Given the description of an element on the screen output the (x, y) to click on. 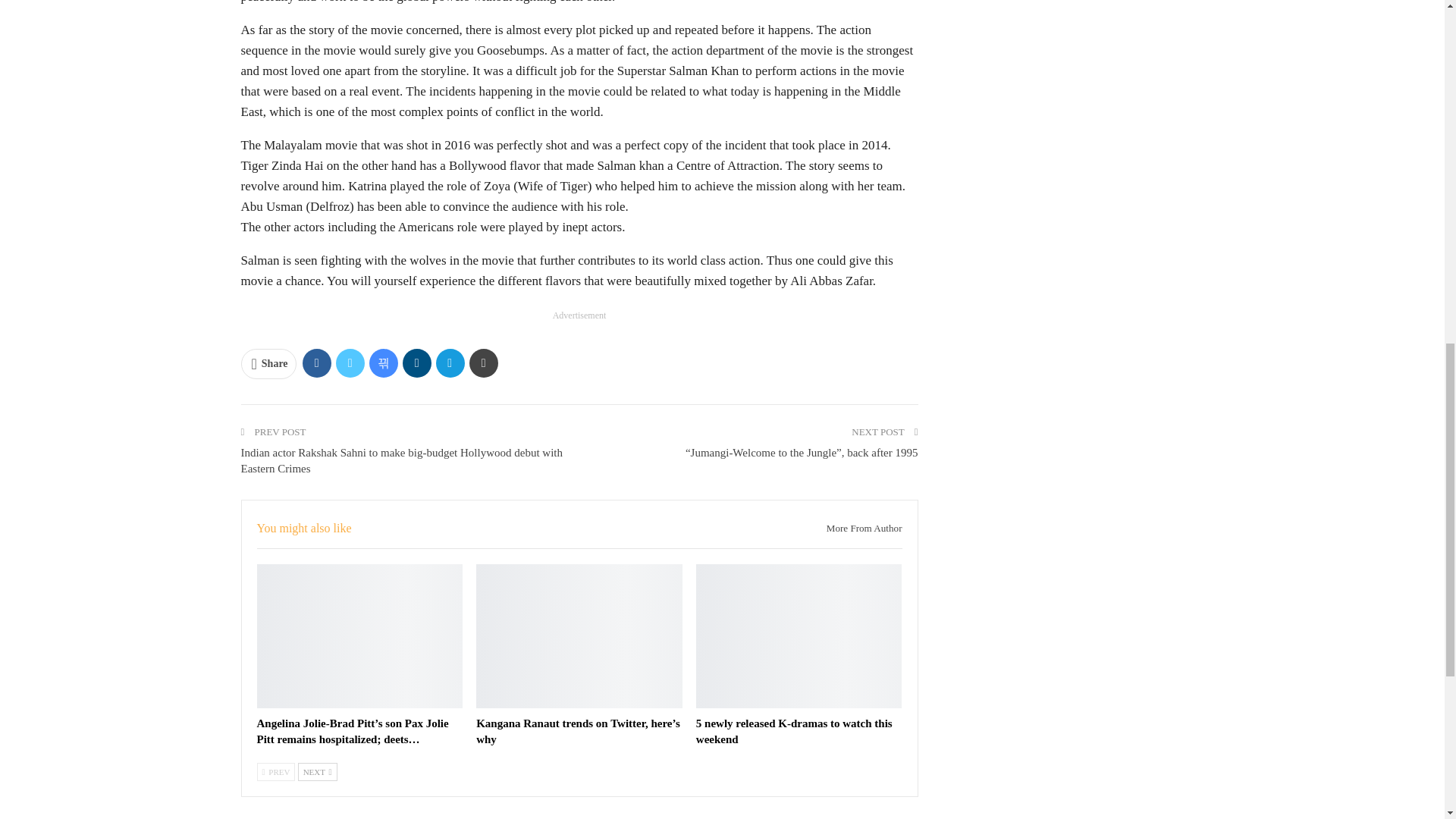
5 newly released K-dramas to watch this weekend (798, 636)
5 newly released K-dramas to watch this weekend (793, 731)
Previous (275, 771)
Next (317, 771)
